Given the description of an element on the screen output the (x, y) to click on. 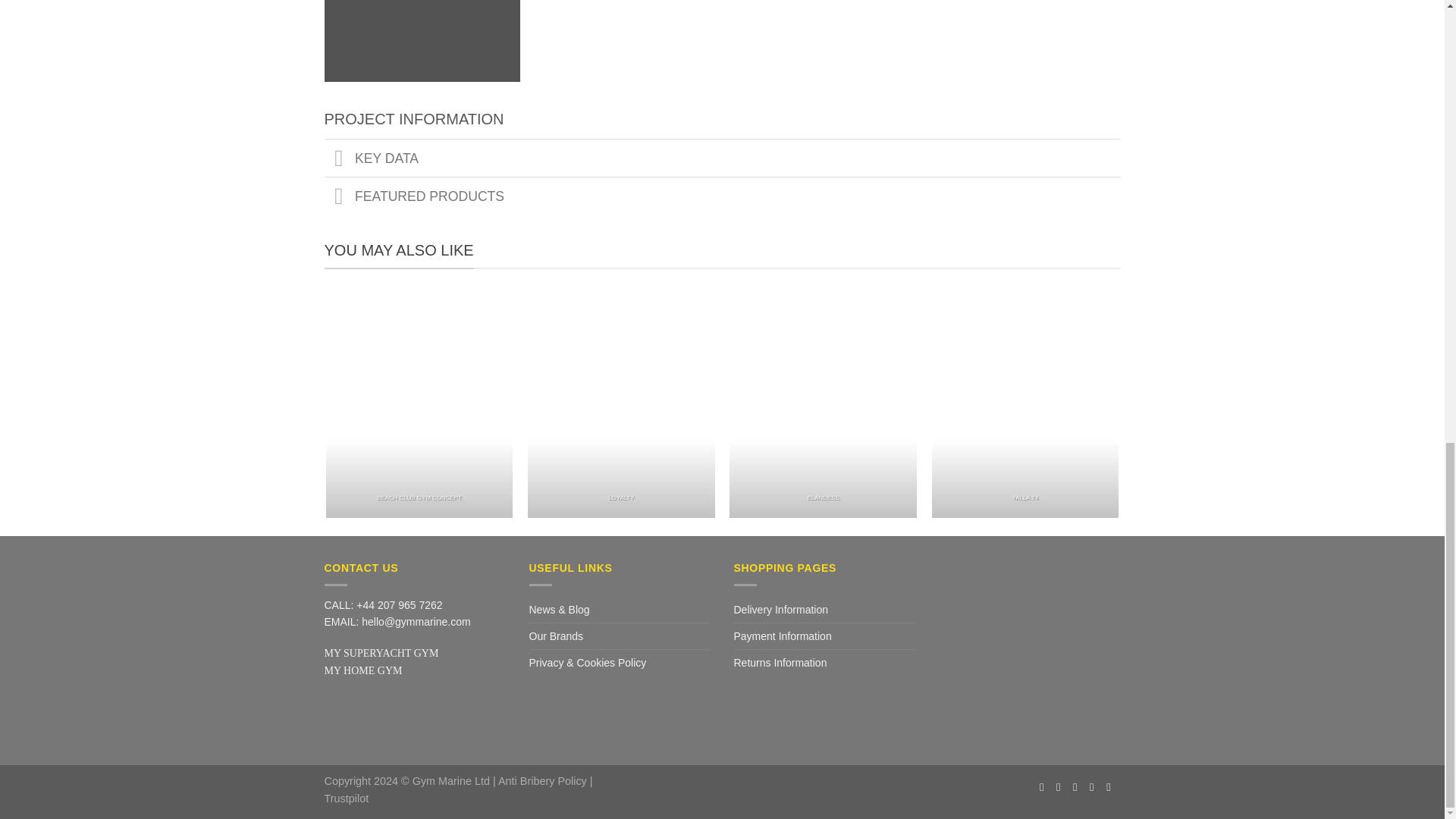
Follow on Pinterest (1094, 787)
Follow on Instagram (1062, 787)
Follow on Twitter (1078, 787)
Follow on Facebook (1045, 787)
Follow on LinkedIn (1112, 787)
